Given the description of an element on the screen output the (x, y) to click on. 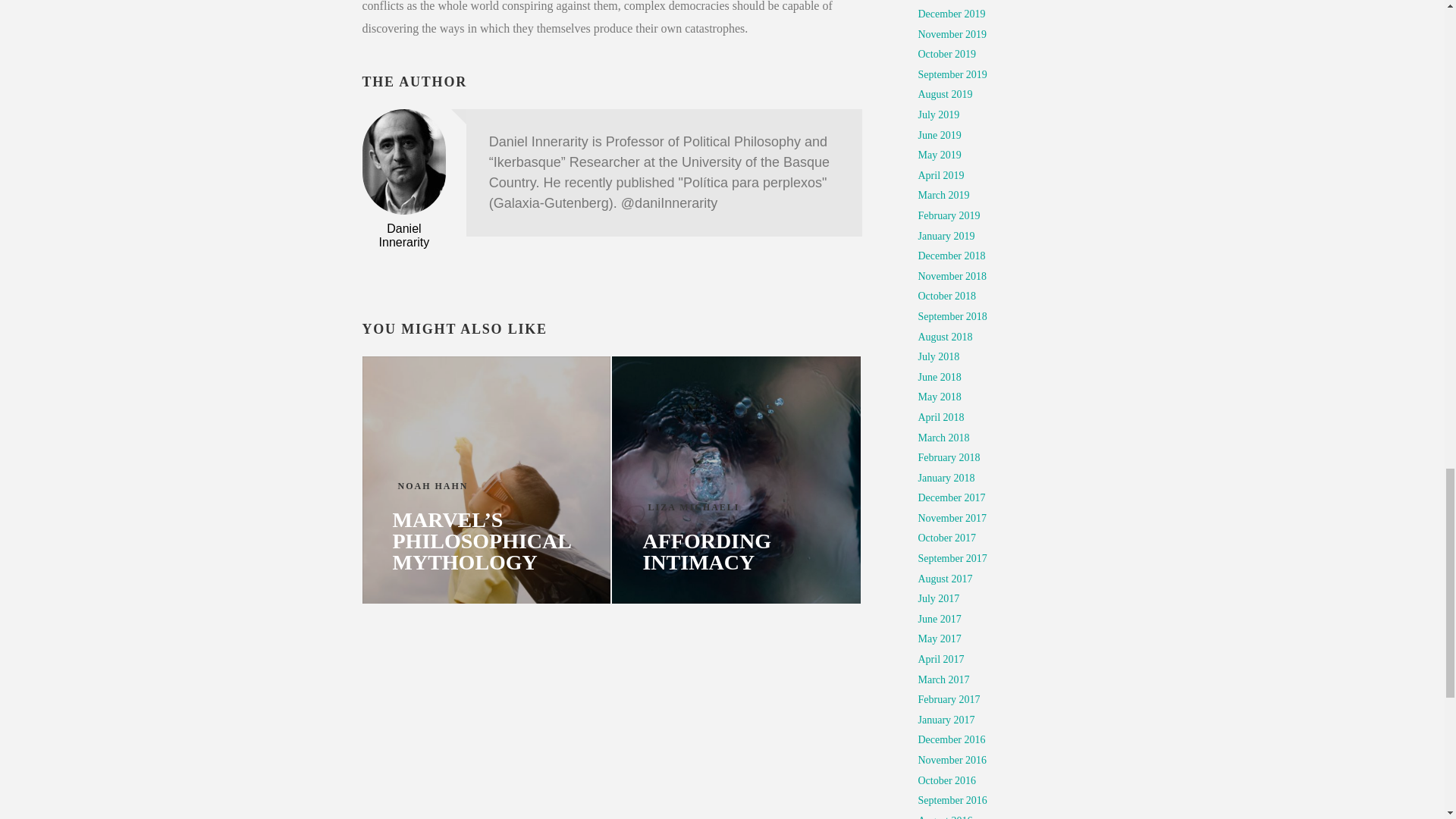
Affording Intimacy (735, 551)
Posts by Daniel Innerarity (403, 234)
Affording Intimacy (735, 479)
Affording Intimacy (735, 479)
AFFORDING INTIMACY (735, 551)
Daniel Innerarity (403, 234)
